Given the description of an element on the screen output the (x, y) to click on. 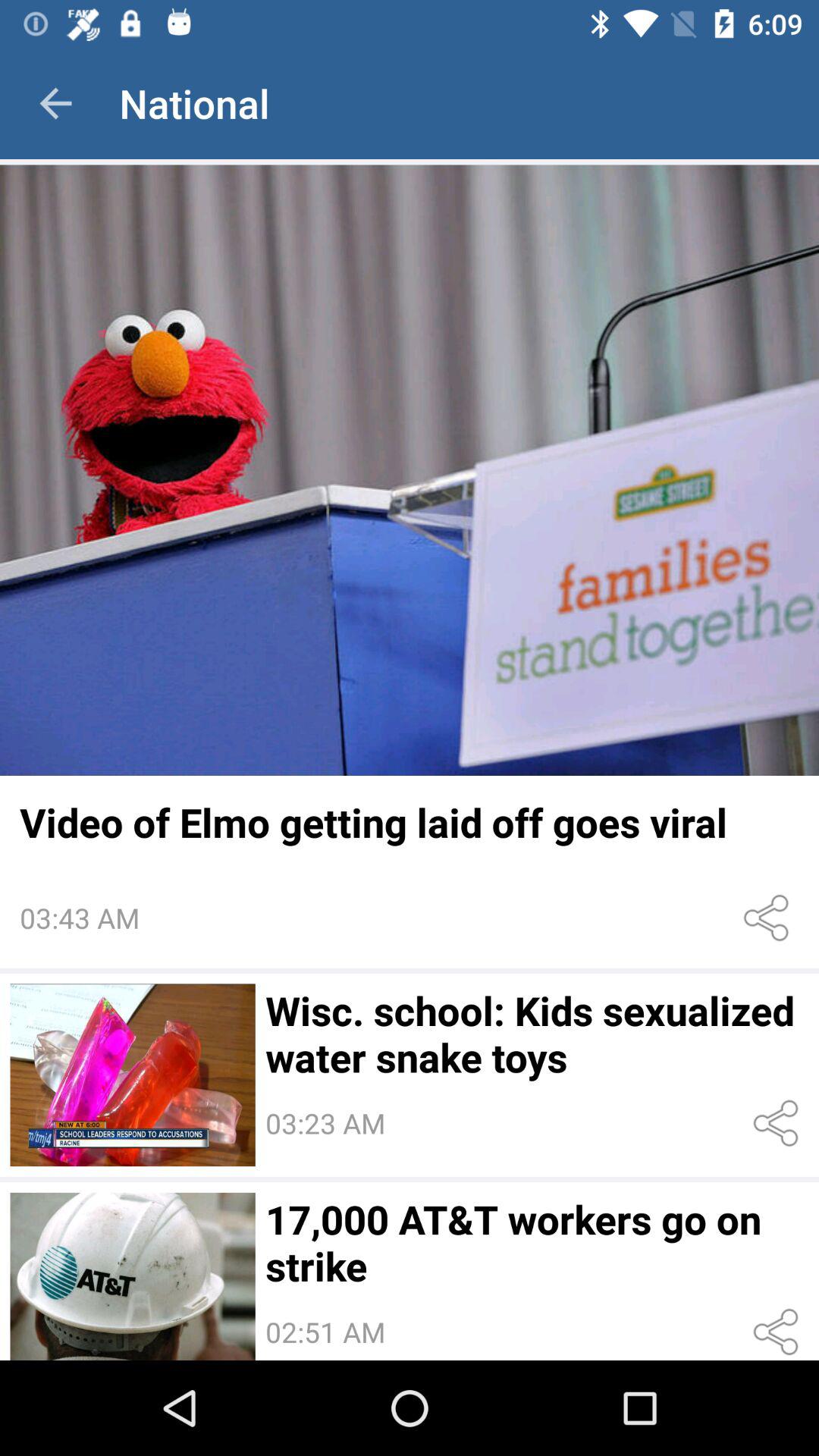
choose the item to the left of national app (55, 103)
